Given the description of an element on the screen output the (x, y) to click on. 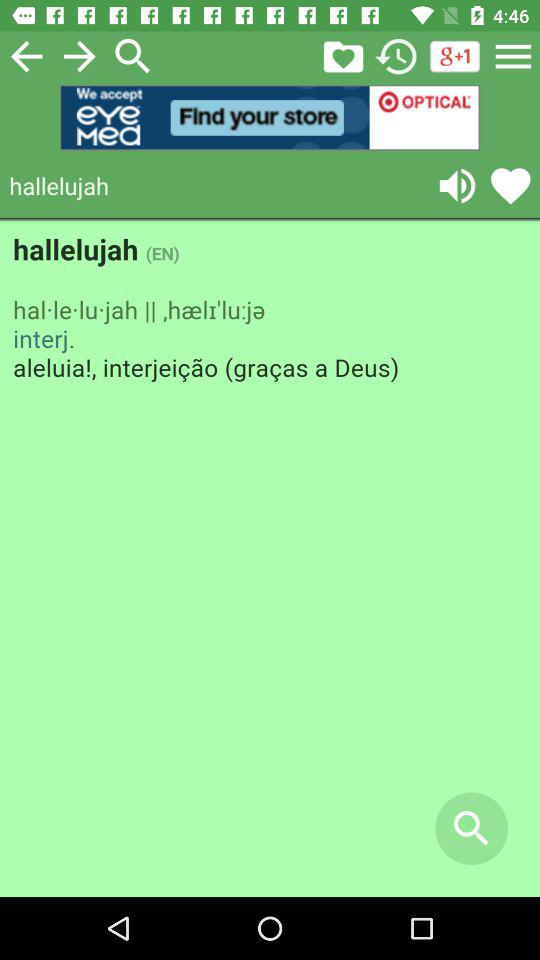
search button (133, 56)
